Given the description of an element on the screen output the (x, y) to click on. 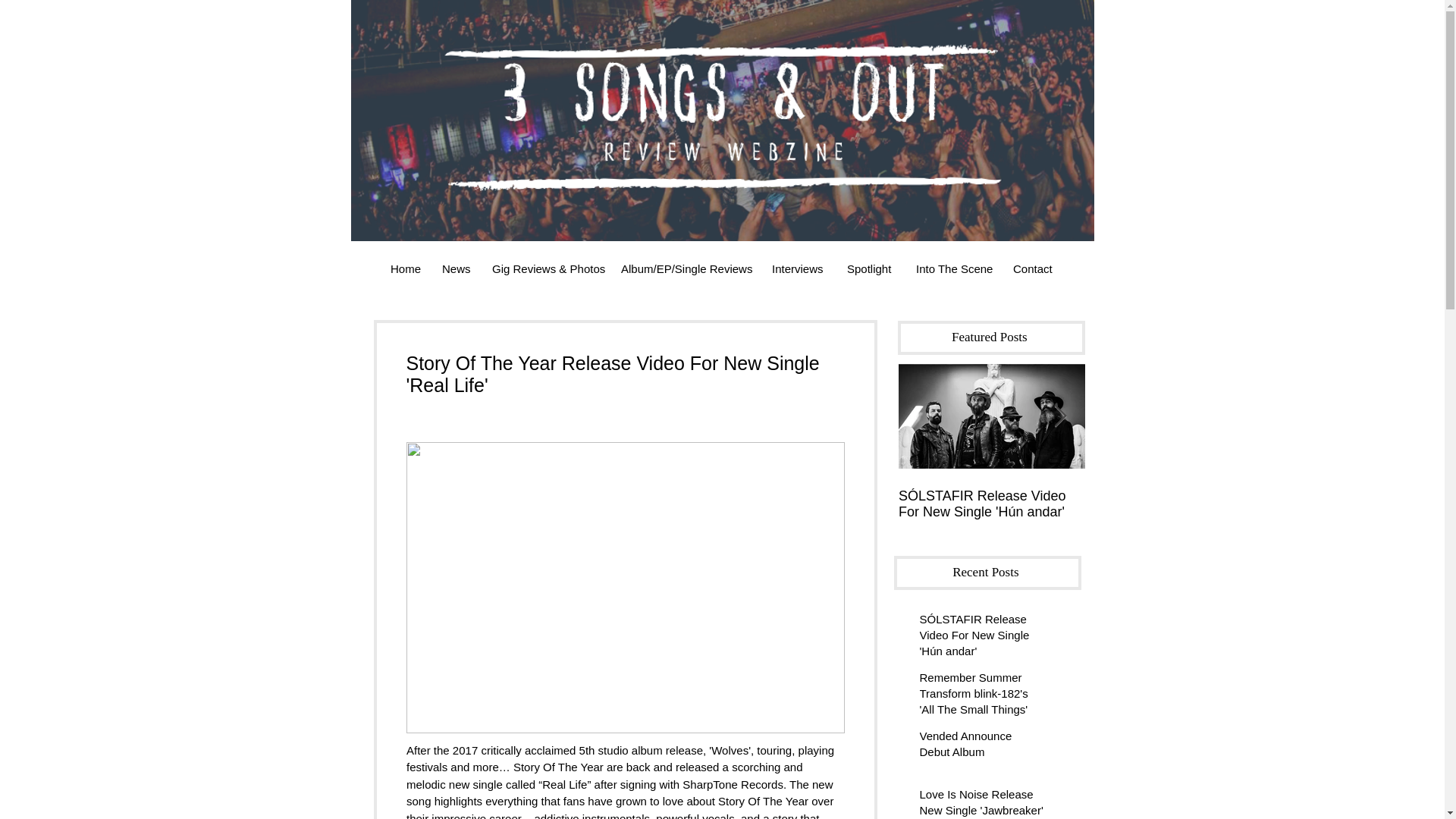
News (455, 268)
Home (404, 268)
Spotlight (869, 268)
Interviews (797, 268)
Contact (1032, 268)
Vended Announce Debut Album (980, 746)
Remember Summer Transform blink-182's 'All The Small Things' (1177, 512)
Into The Scene (952, 268)
Love Is Noise Release New Single 'Jawbreaker' (980, 802)
Remember Summer Transform blink-182's 'All The Small Things' (980, 696)
